Given the description of an element on the screen output the (x, y) to click on. 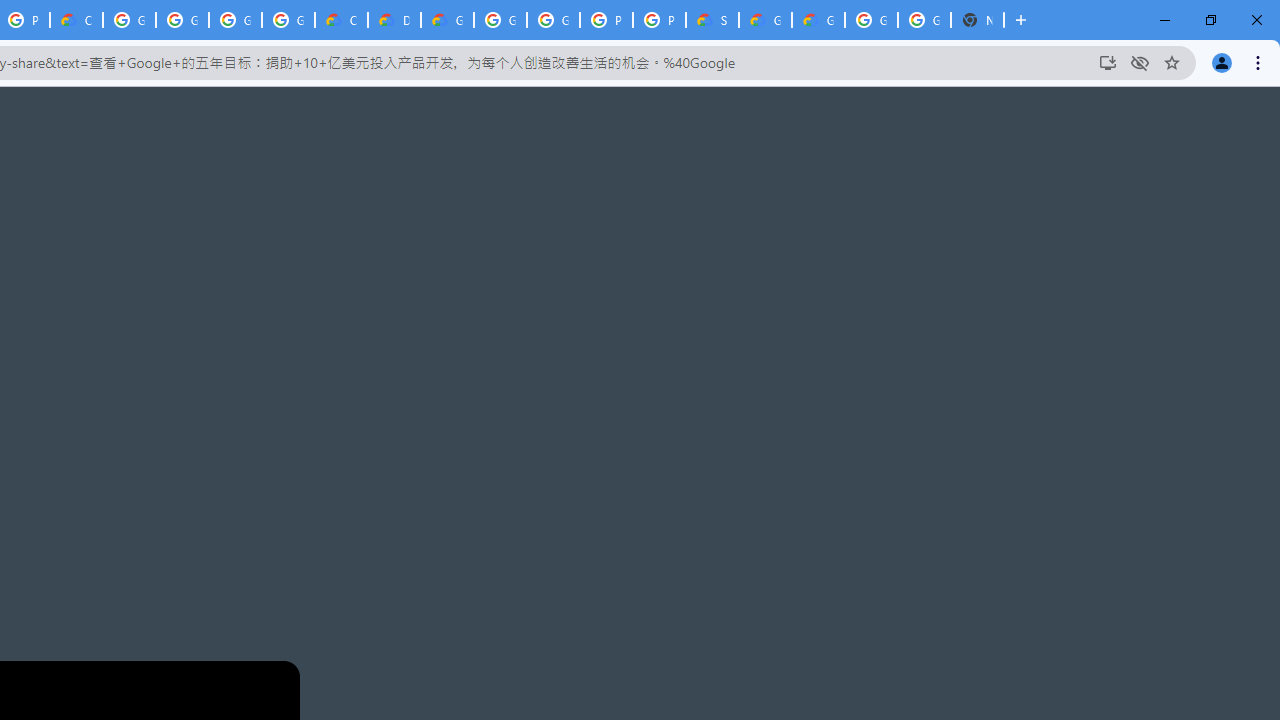
Cloud Data Processing Addendum | Google Cloud (76, 20)
Google Cloud Platform (553, 20)
Google Cloud Service Health (818, 20)
Google Cloud Platform (871, 20)
Google Cloud Service Health (765, 20)
Google Cloud Platform (500, 20)
Gemini for Business and Developers | Google Cloud (447, 20)
